Given the description of an element on the screen output the (x, y) to click on. 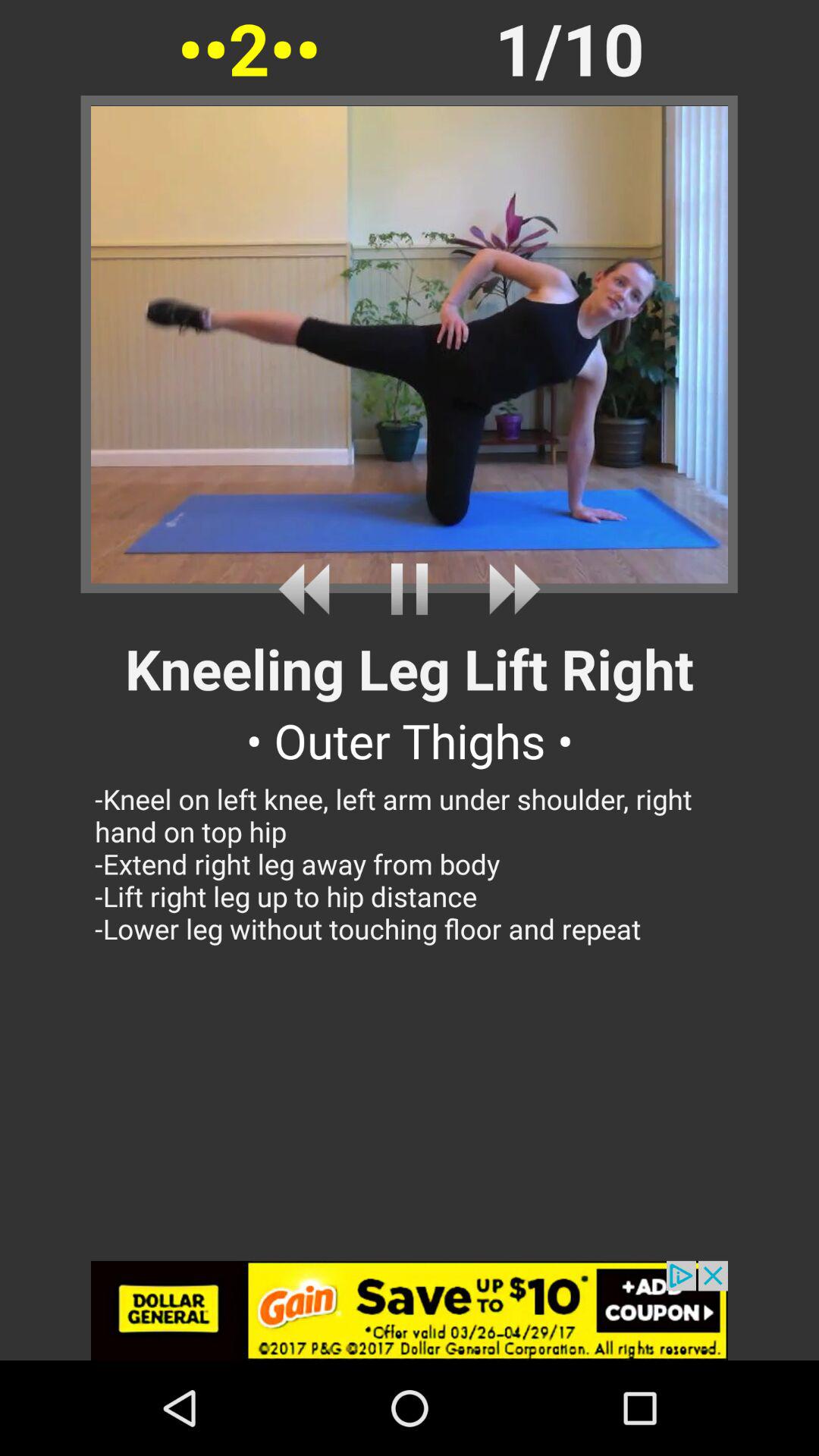
click pause button (409, 589)
